Given the description of an element on the screen output the (x, y) to click on. 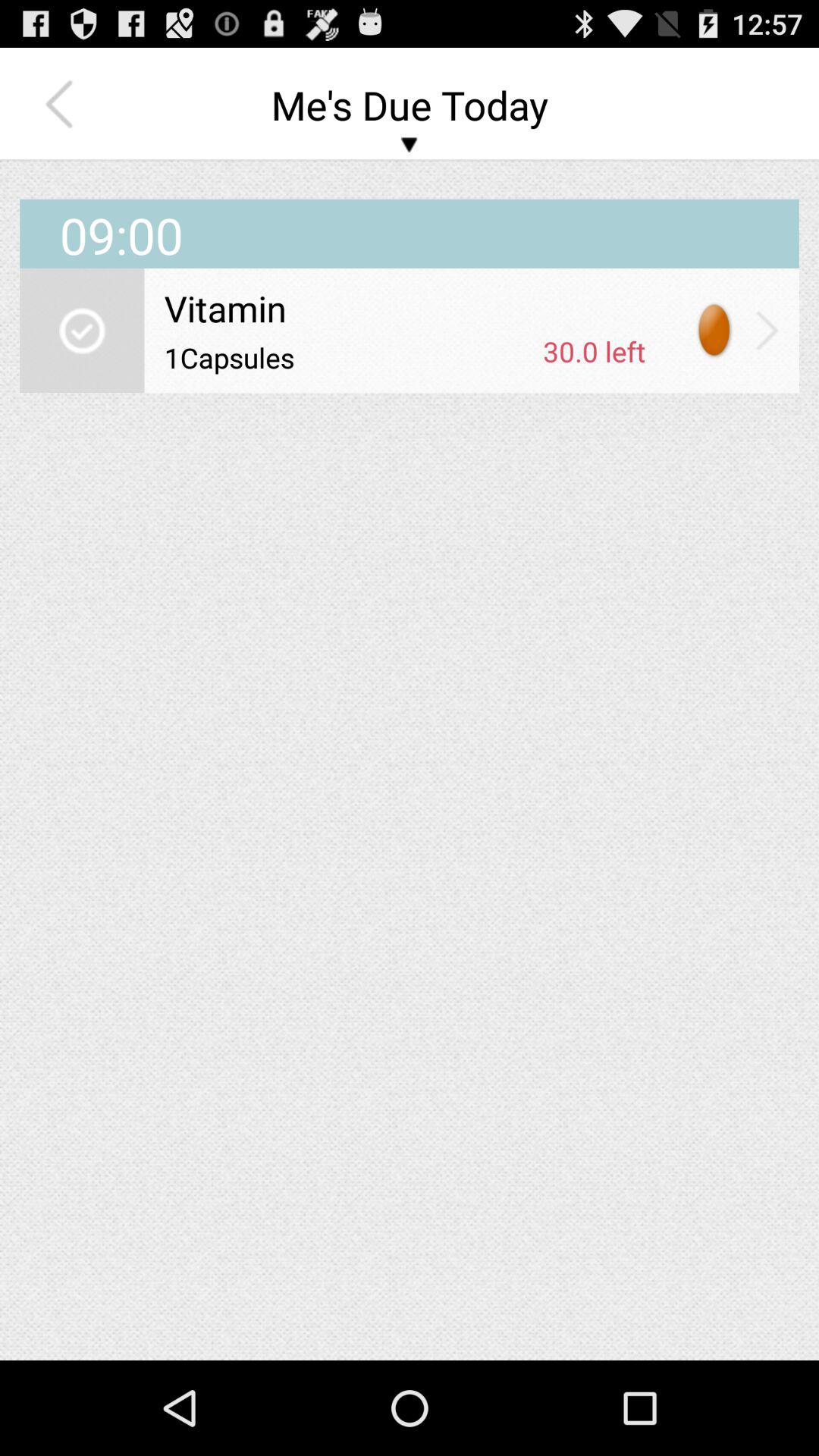
tap icon below the 09:00 (81, 330)
